Given the description of an element on the screen output the (x, y) to click on. 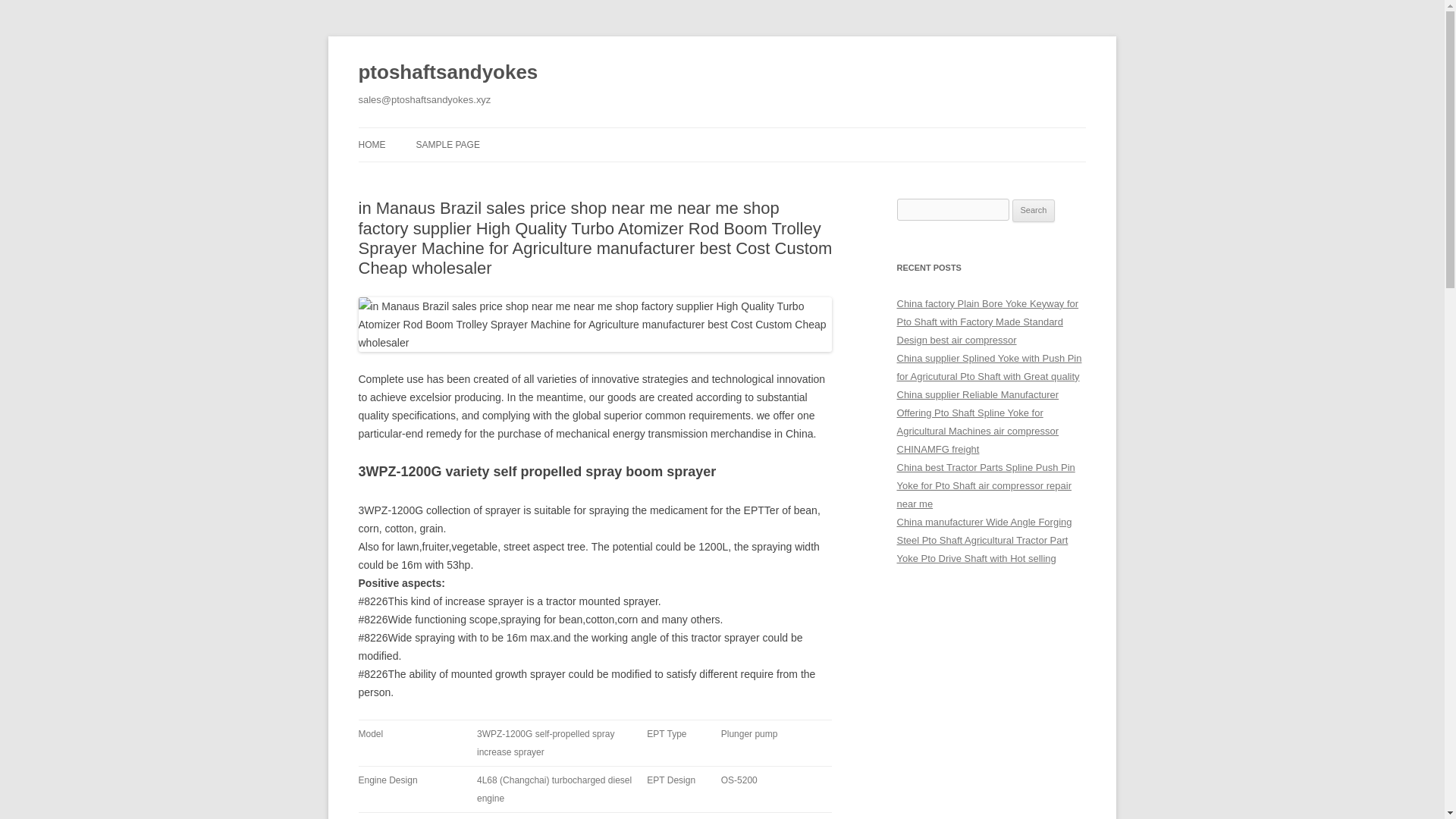
SAMPLE PAGE (446, 144)
Search (1033, 210)
ptoshaftsandyokes (447, 72)
ptoshaftsandyokes (447, 72)
